Given the description of an element on the screen output the (x, y) to click on. 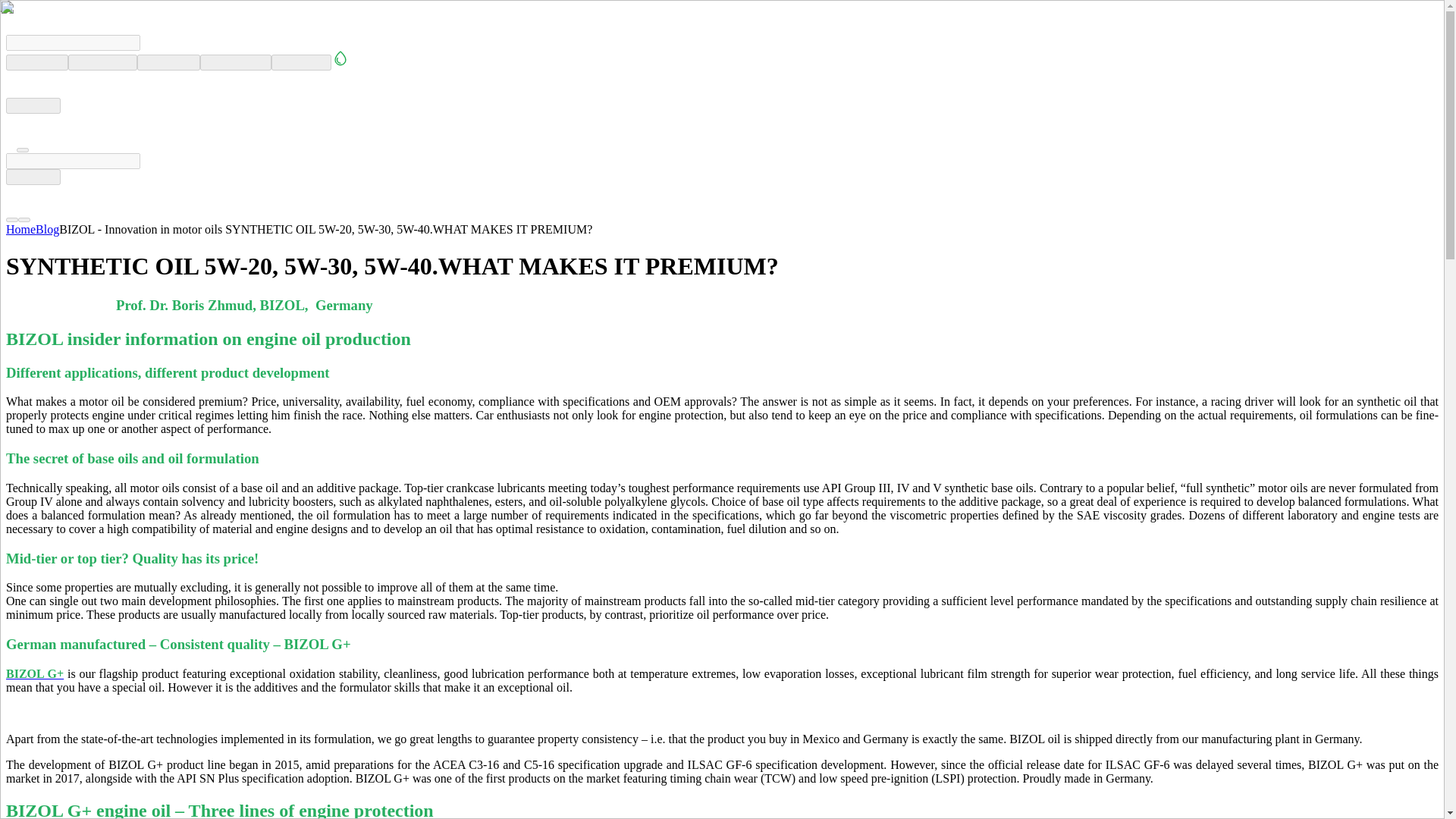
EDUCATION (235, 62)
CONTACT (300, 62)
COMPANY (36, 62)
SERVICES (168, 62)
PRODUCTS (102, 62)
Blog (46, 228)
Home (19, 228)
